Given the description of an element on the screen output the (x, y) to click on. 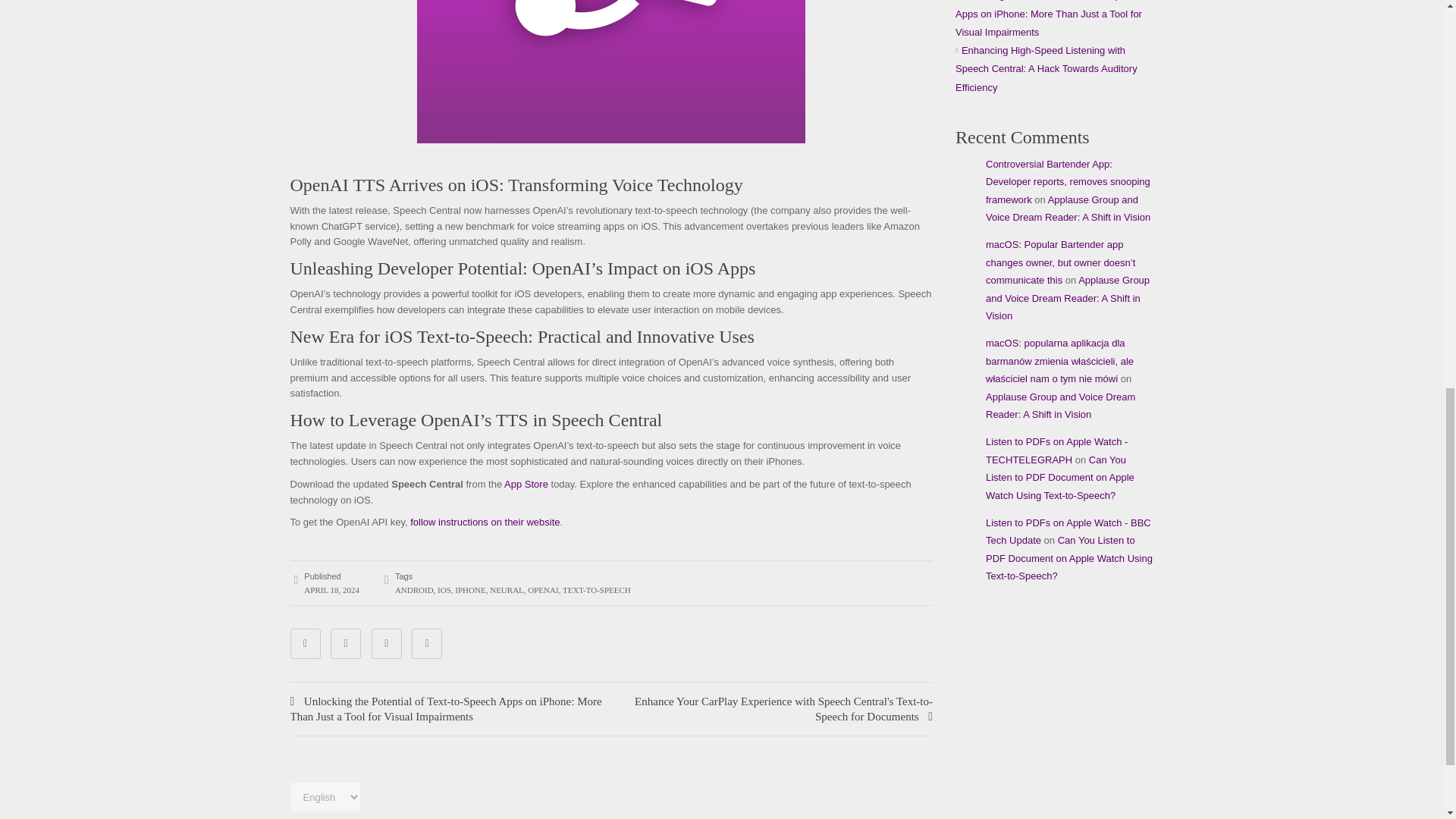
Email this (427, 643)
App Store (525, 483)
Share on Facebook (304, 643)
Share on LinkedIn (386, 643)
Share on Twitter (345, 643)
follow instructions on their website (484, 521)
ANDROID (413, 589)
